Given the description of an element on the screen output the (x, y) to click on. 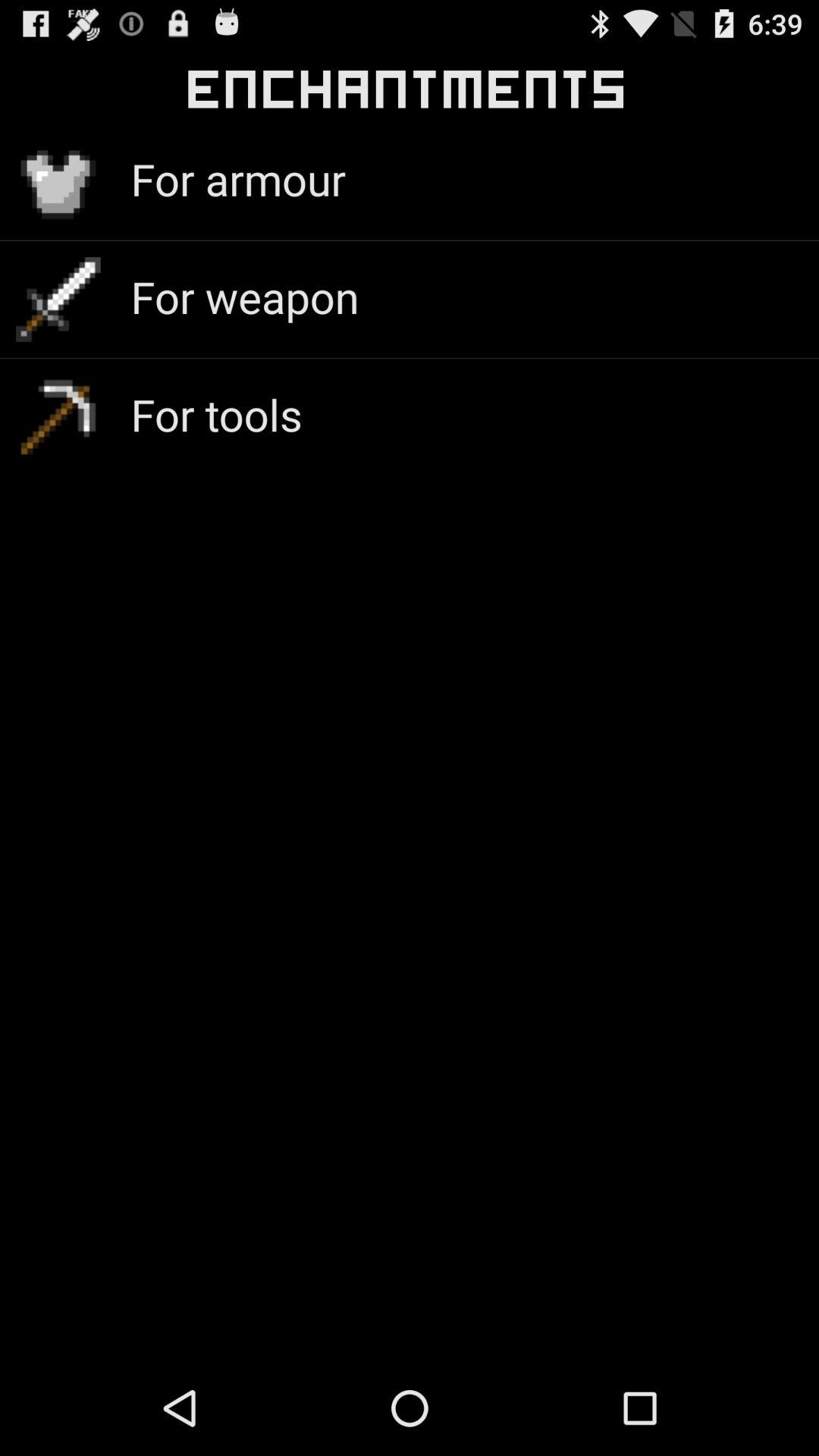
click the icon above the for weapon icon (237, 178)
